Given the description of an element on the screen output the (x, y) to click on. 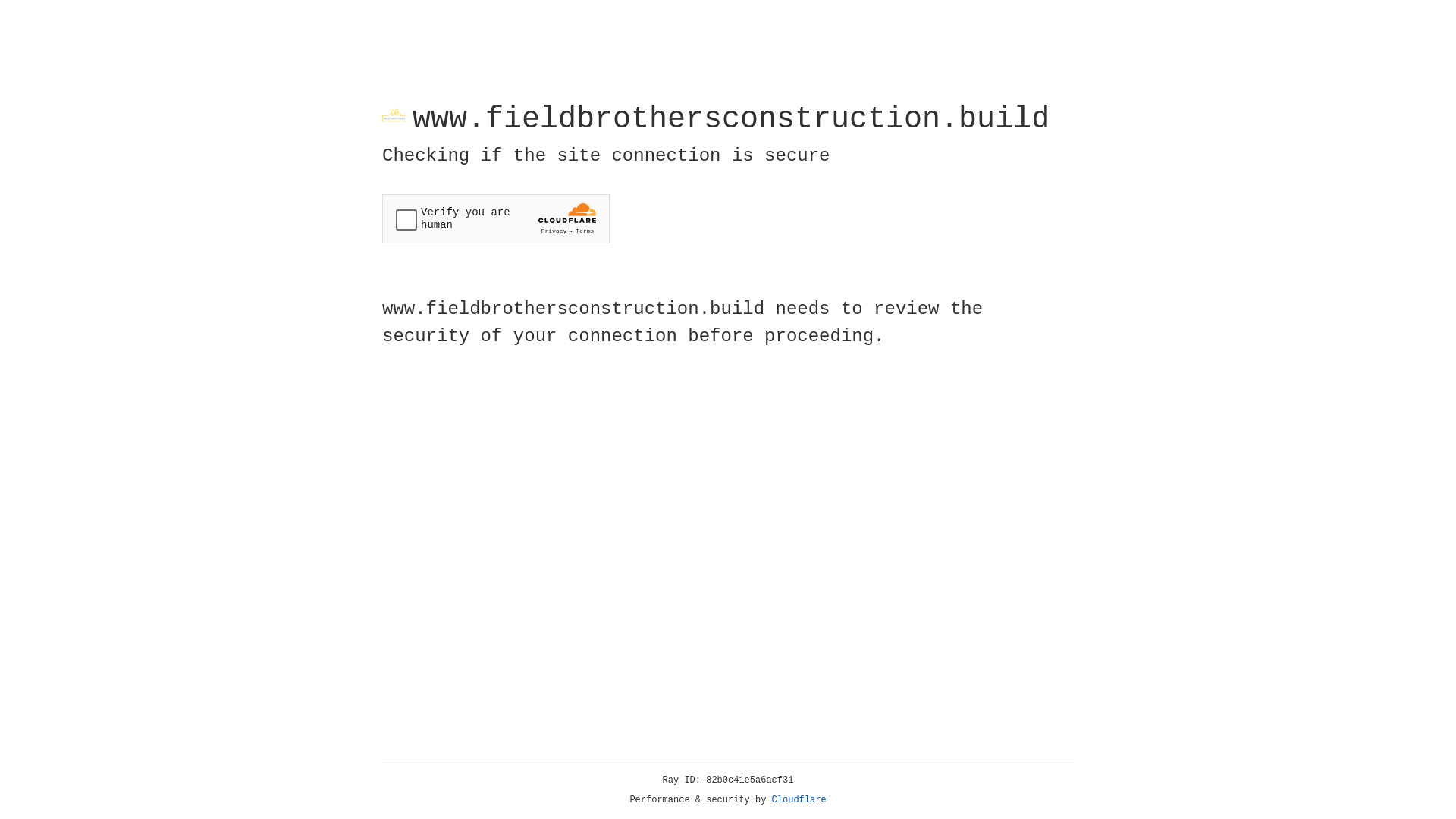
Widget containing a Cloudflare security challenge Element type: hover (495, 218)
Cloudflare Element type: text (798, 799)
